Given the description of an element on the screen output the (x, y) to click on. 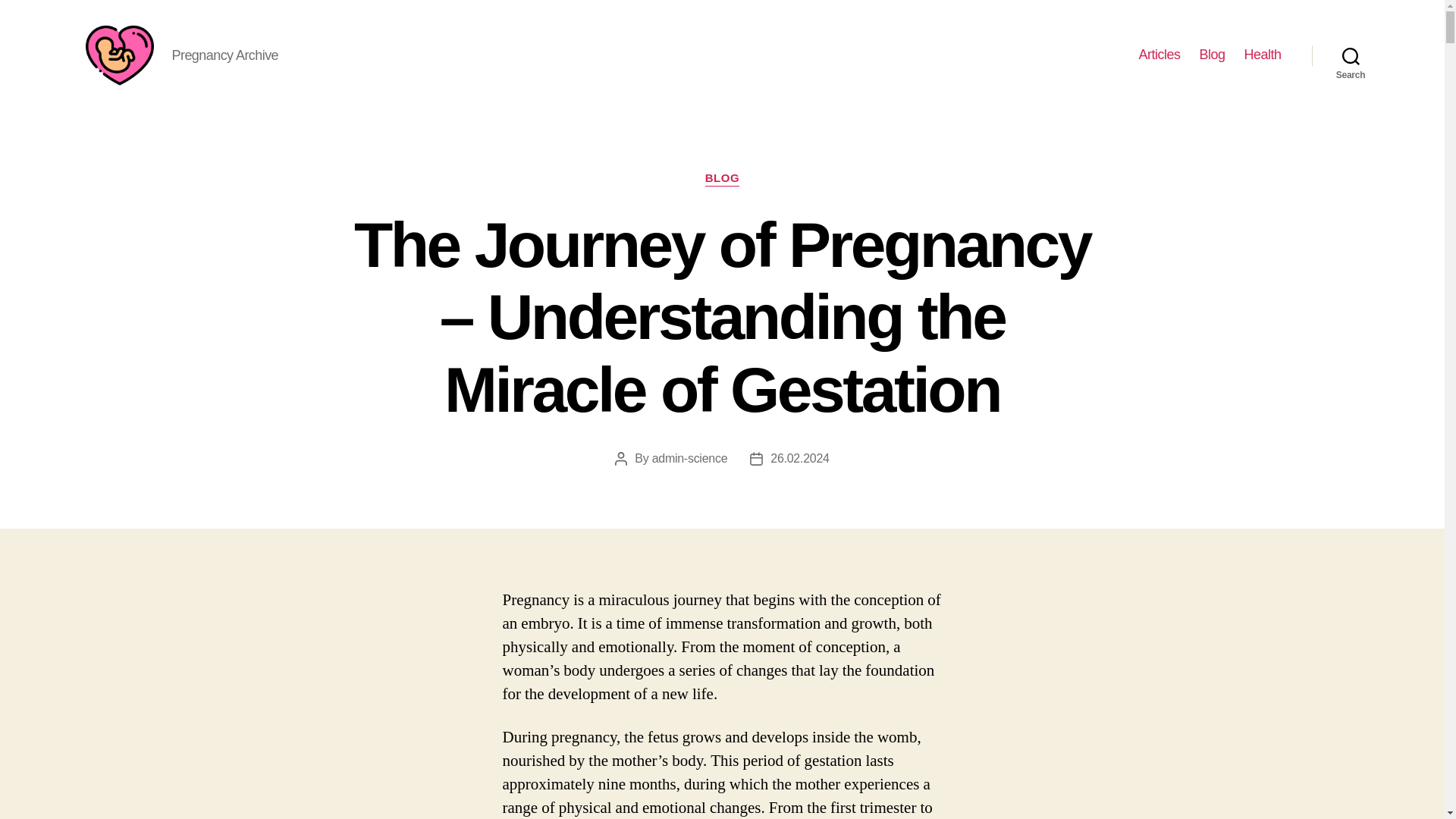
Articles (1158, 54)
BLOG (721, 178)
Search (1350, 55)
Health (1262, 54)
26.02.2024 (799, 458)
admin-science (690, 458)
Blog (1211, 54)
